Given the description of an element on the screen output the (x, y) to click on. 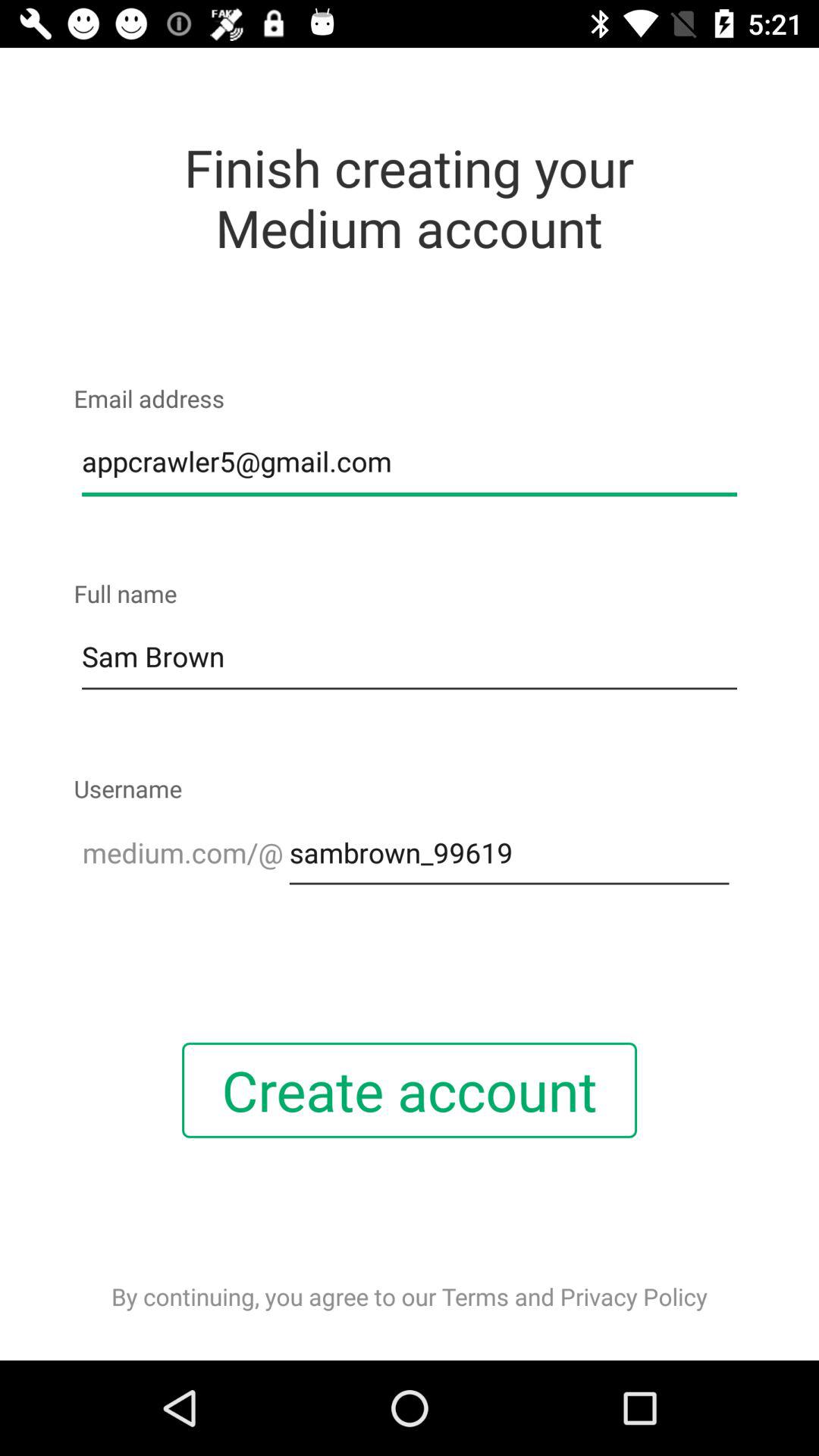
press the icon above username icon (409, 657)
